Given the description of an element on the screen output the (x, y) to click on. 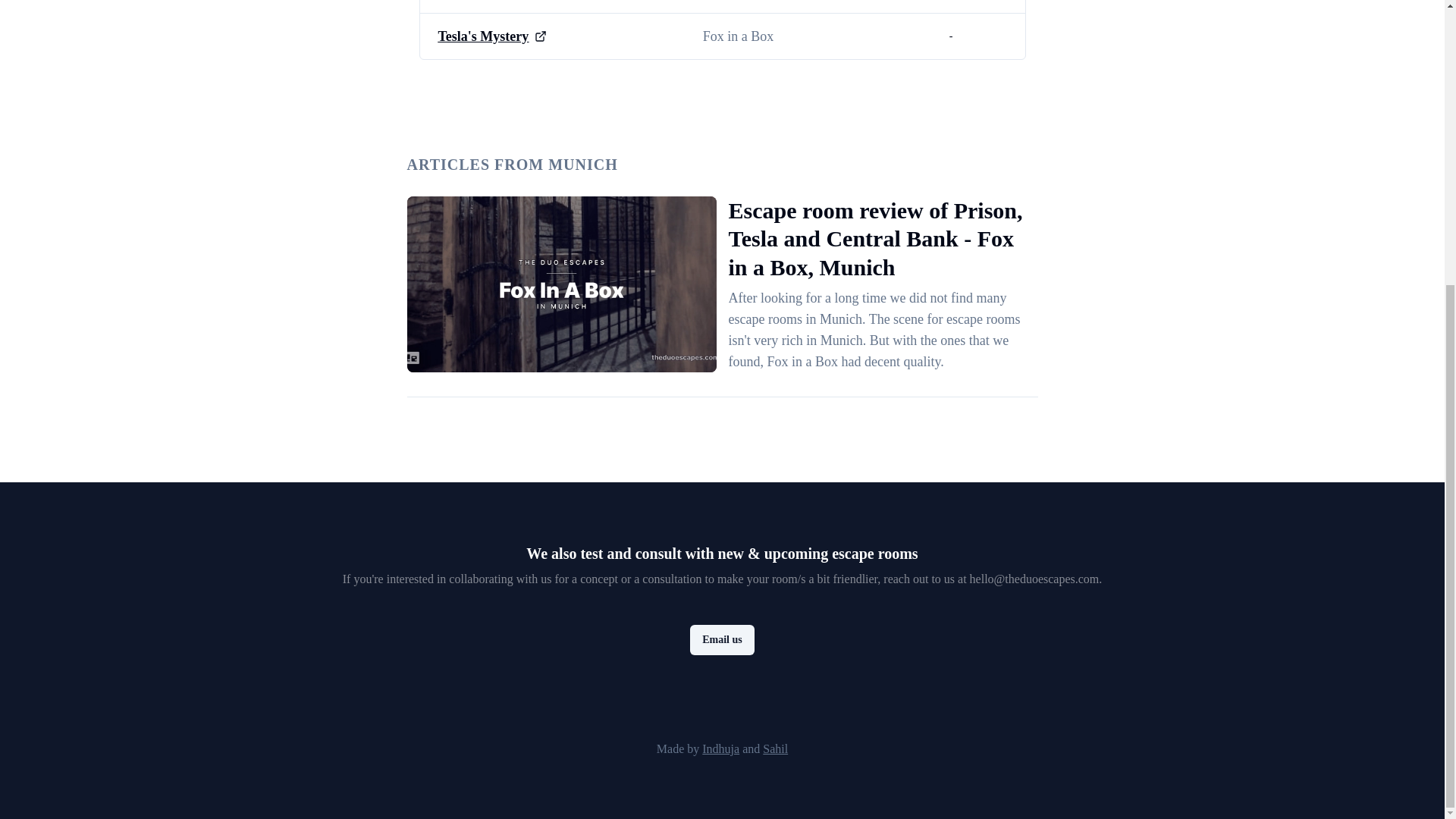
Tesla's Mystery (483, 35)
Indhuja (720, 748)
Sahil (774, 748)
Email us (722, 639)
